Given the description of an element on the screen output the (x, y) to click on. 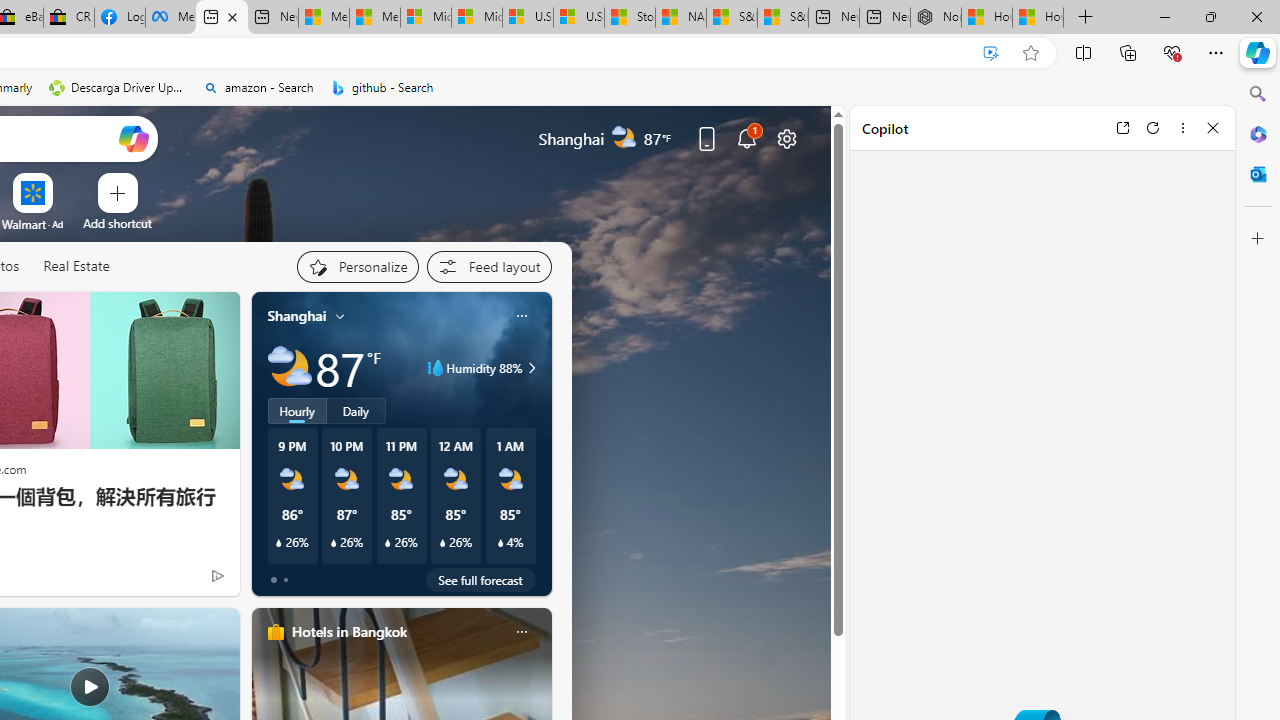
Humidity 88% (529, 367)
